Given the description of an element on the screen output the (x, y) to click on. 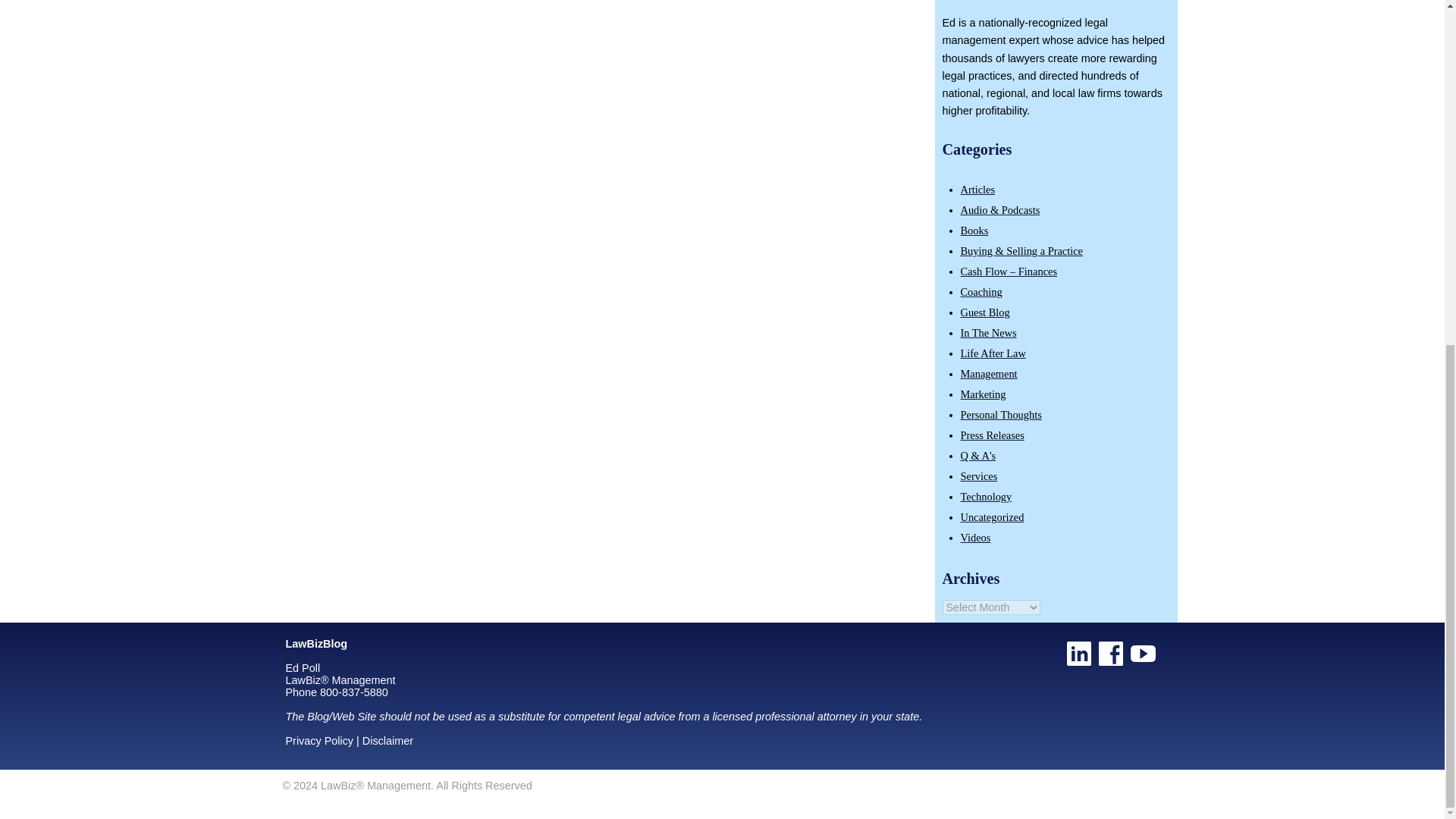
Guest Blog (984, 312)
Privacy Policy (319, 740)
Management (987, 373)
Coaching (980, 291)
Press Releases (991, 435)
Books (973, 230)
Articles (976, 189)
Marketing (982, 394)
Disclaimer (387, 740)
Technology (985, 496)
Life After Law (992, 353)
Uncategorized (991, 517)
Videos (974, 537)
Personal Thoughts (1000, 414)
Services (978, 476)
